Given the description of an element on the screen output the (x, y) to click on. 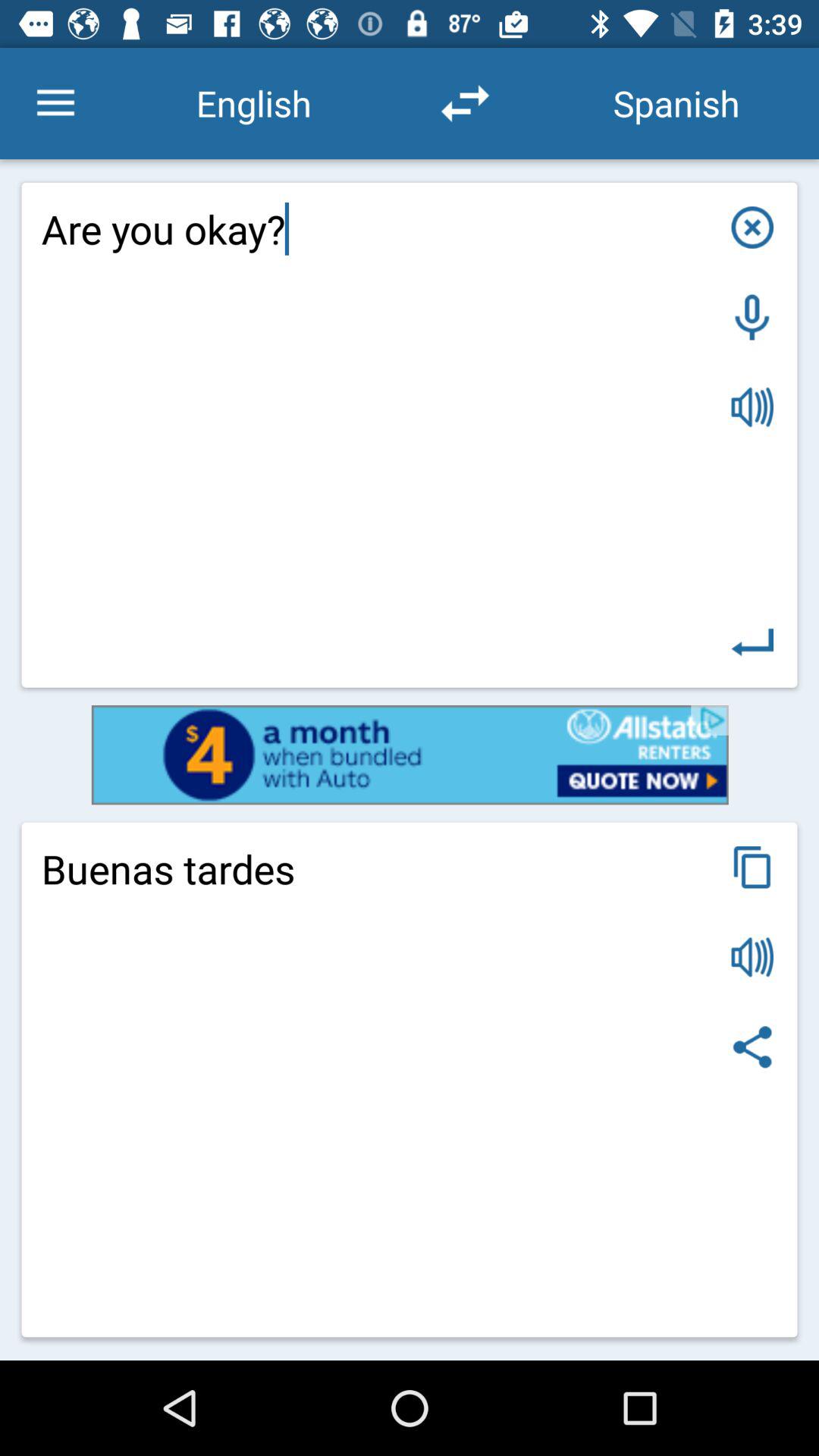
voice traslation (752, 407)
